Given the description of an element on the screen output the (x, y) to click on. 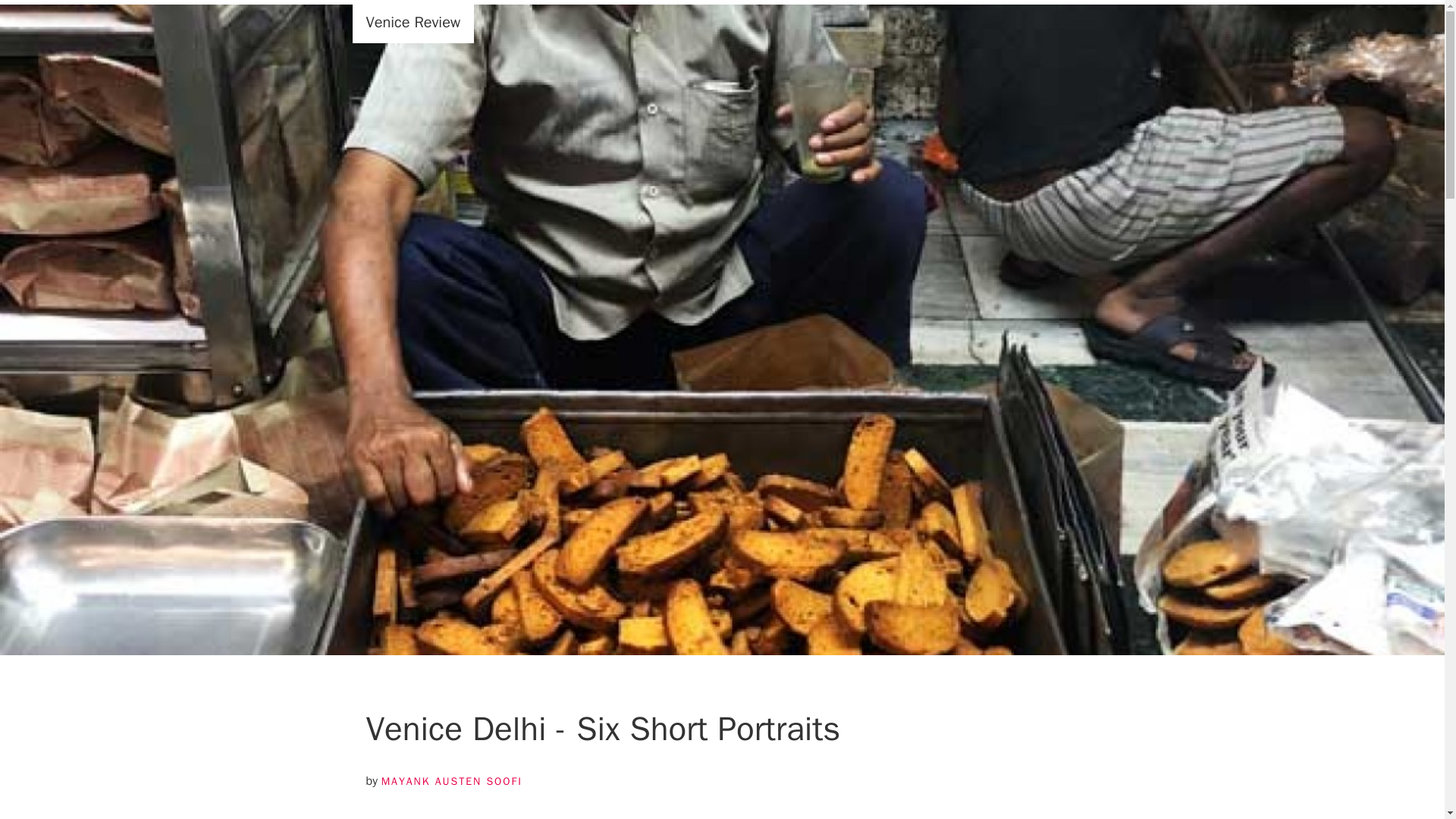
Venice Review (413, 22)
